Given the description of an element on the screen output the (x, y) to click on. 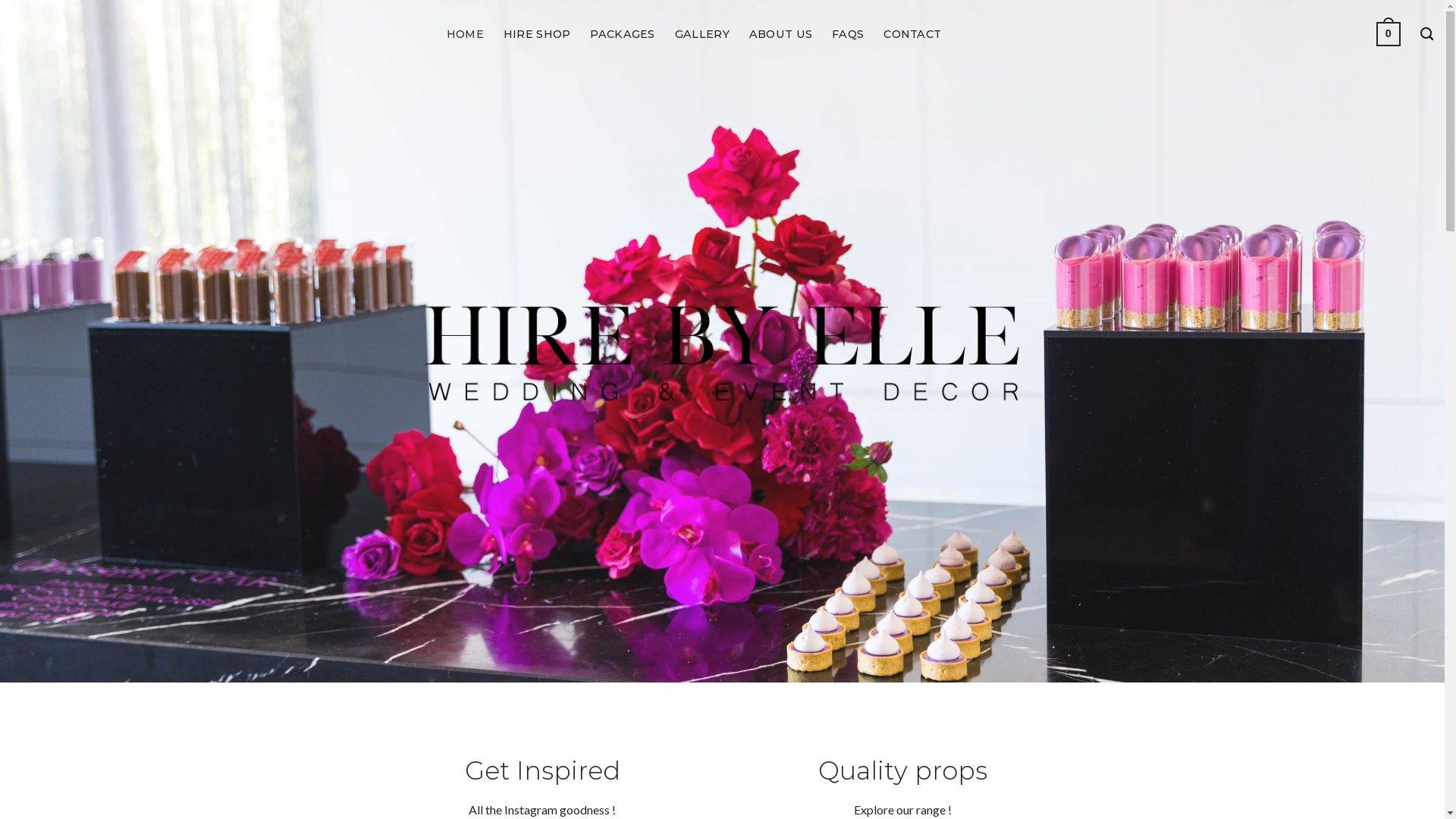
ABOUT US Element type: text (780, 33)
FAQS Element type: text (847, 33)
GALLERY Element type: text (701, 33)
0 Element type: text (1388, 33)
PACKAGES Element type: text (621, 33)
Skip to content Element type: text (0, 0)
HIRE SHOP Element type: text (537, 33)
HOME Element type: text (464, 33)
CONTACT Element type: text (912, 33)
